Given the description of an element on the screen output the (x, y) to click on. 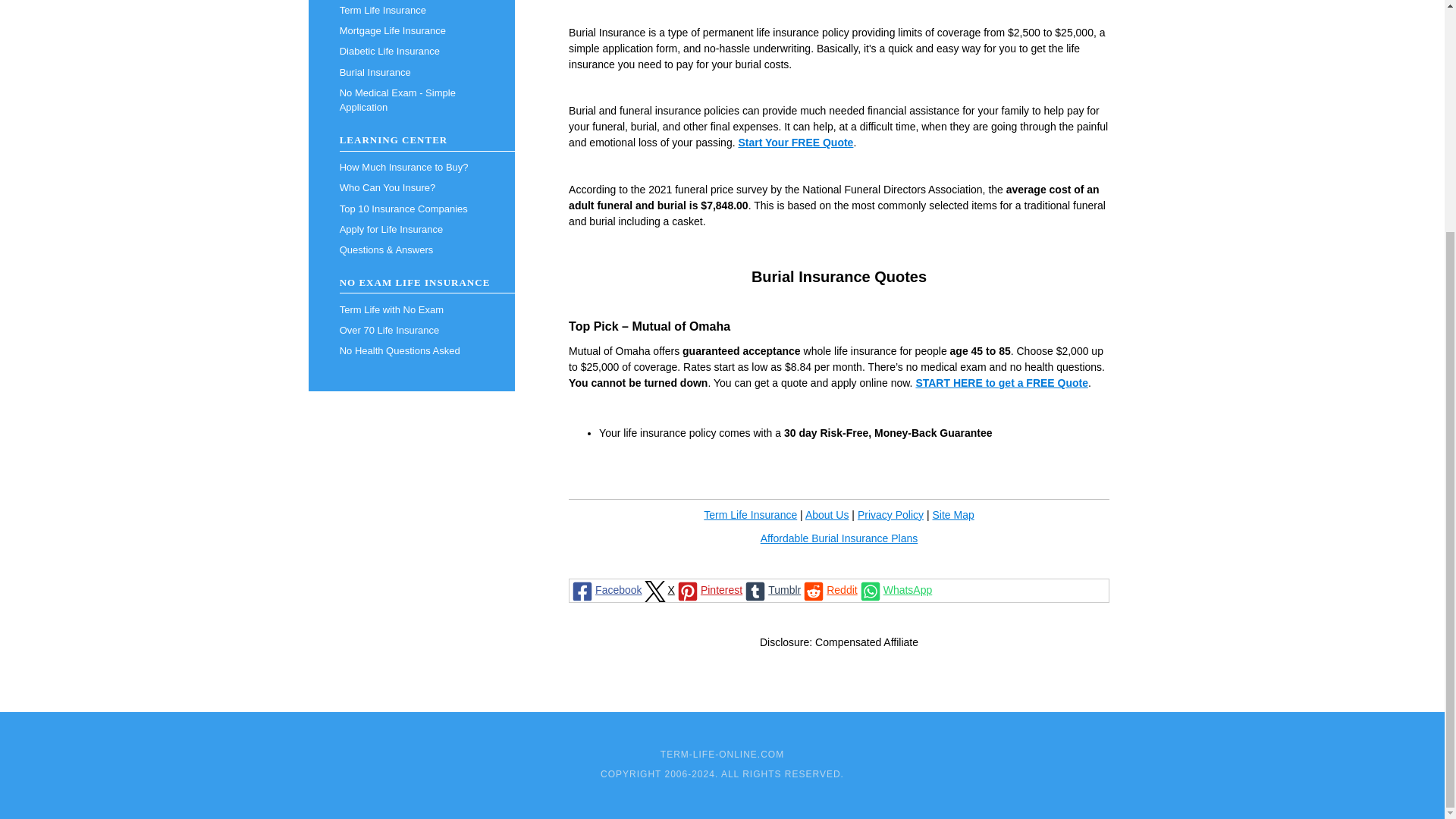
X (658, 590)
Affordable Burial Insurance Plans (839, 538)
Term Life Insurance (749, 514)
Term Life Insurance (411, 10)
No Medical Exam - Simple Application (411, 99)
Facebook (605, 590)
About Us (826, 514)
Top 10 Insurance Companies (411, 209)
Apply for Life Insurance (411, 229)
Reddit (828, 590)
